Given the description of an element on the screen output the (x, y) to click on. 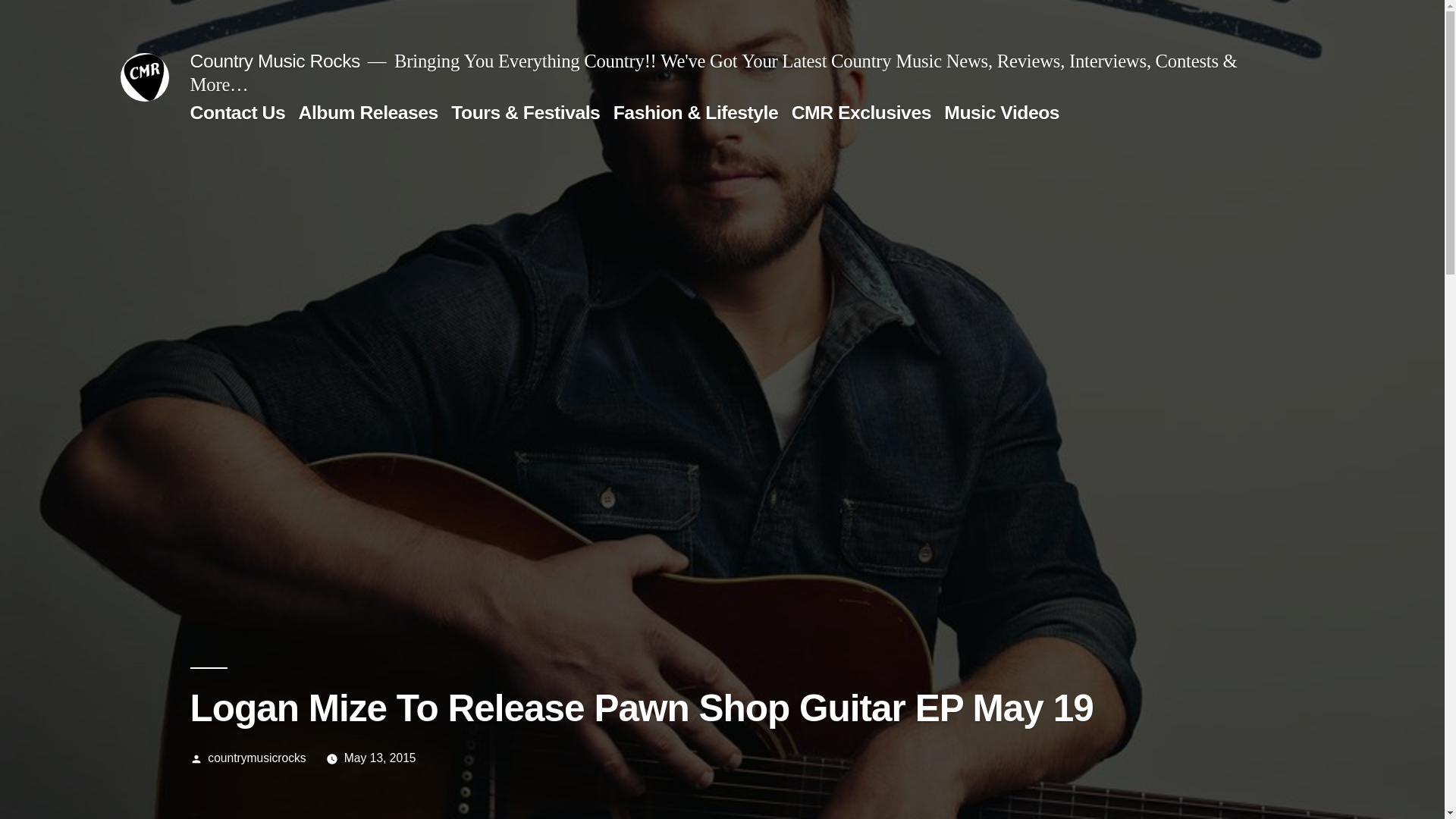
May 13, 2015 (379, 757)
Contact Us (237, 112)
countrymusicrocks (256, 757)
Country Music Rocks (274, 60)
Album Releases (368, 112)
Music Videos (1001, 112)
CMR Exclusives (861, 112)
